Given the description of an element on the screen output the (x, y) to click on. 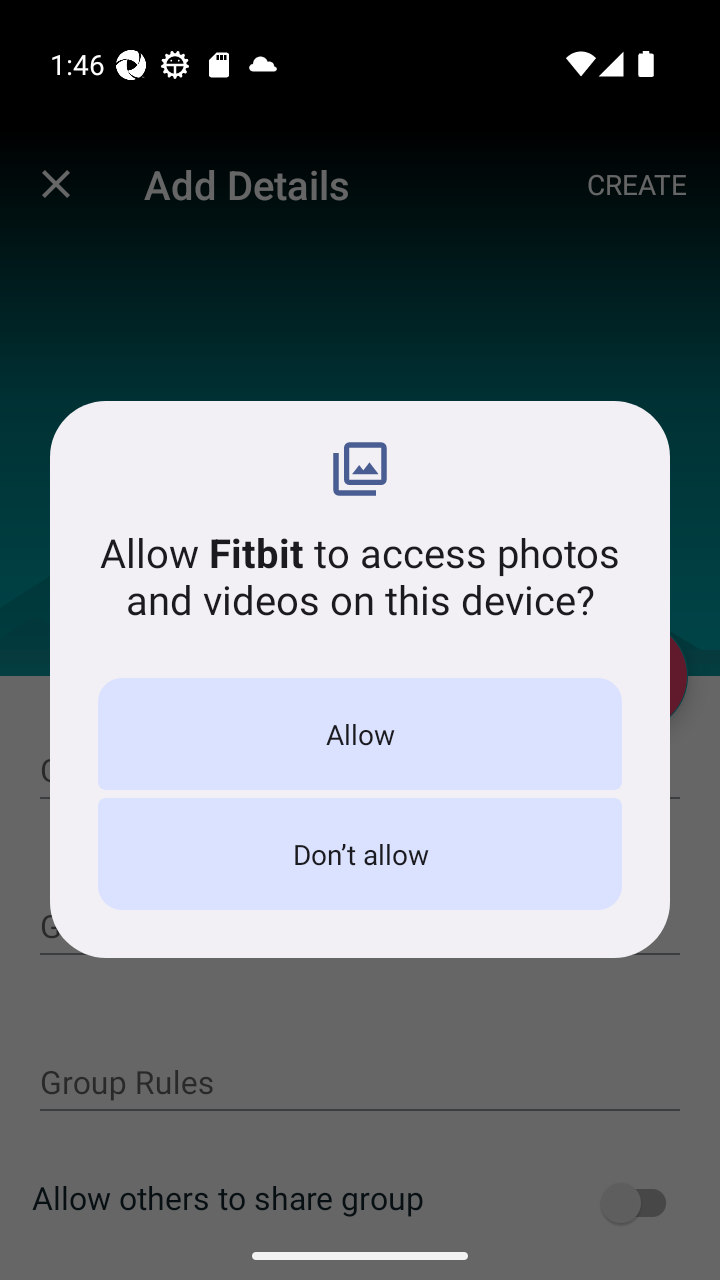
Allow (359, 733)
Don’t allow (359, 853)
